Given the description of an element on the screen output the (x, y) to click on. 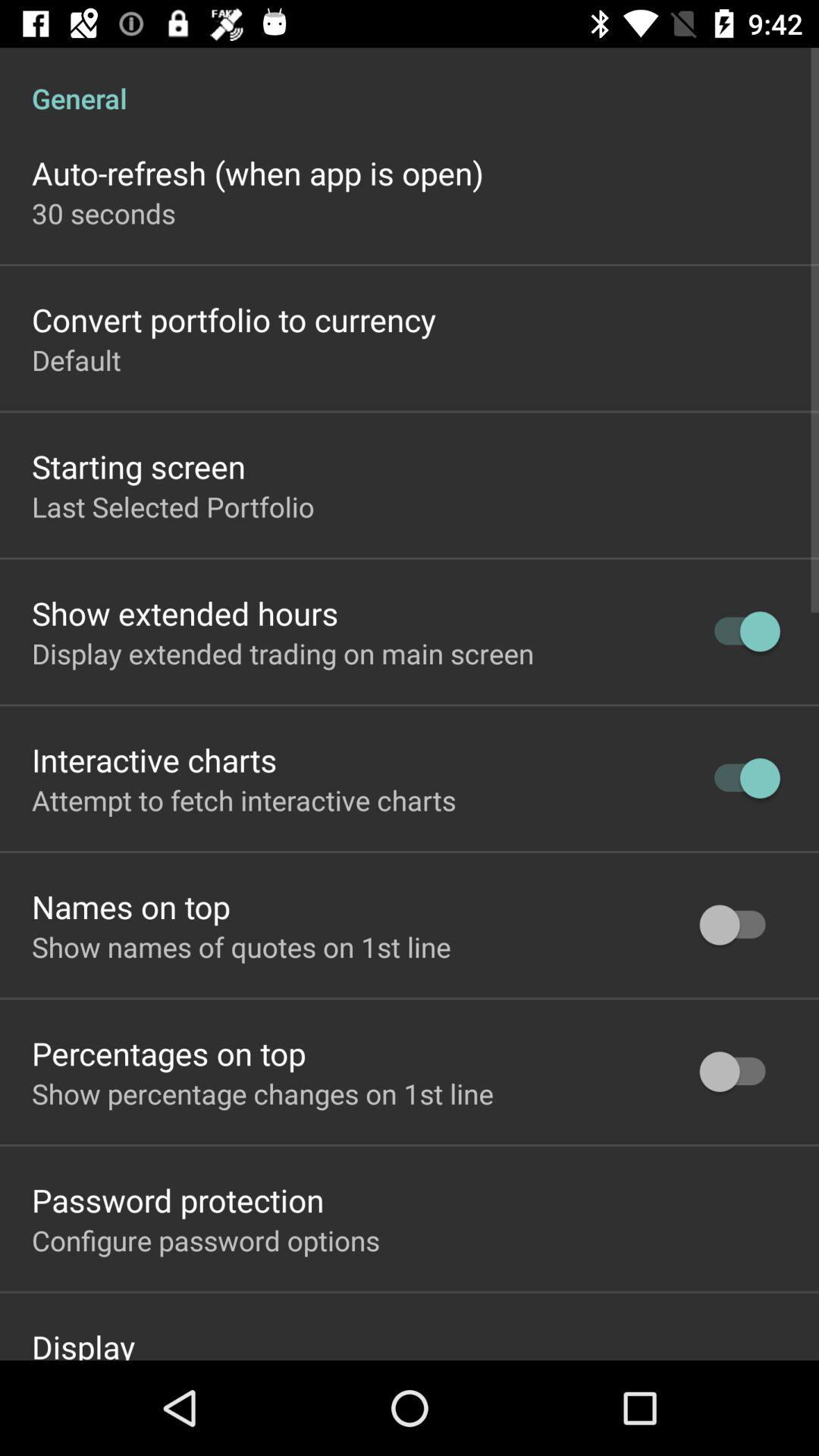
click icon below the 30 seconds item (233, 319)
